Given the description of an element on the screen output the (x, y) to click on. 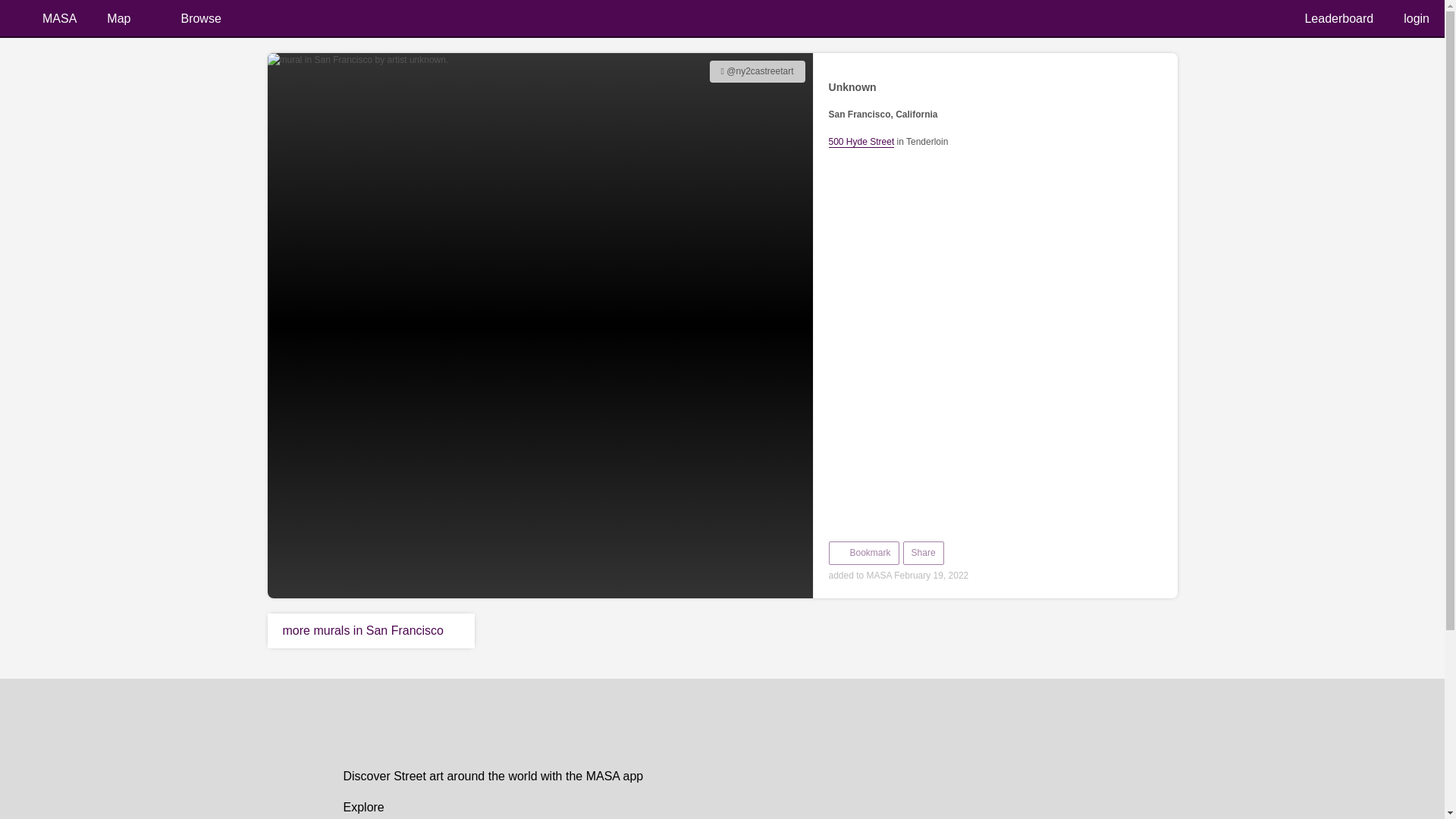
Map (128, 18)
Browse (210, 18)
added to MASA on 2022-02-19 21:11:04.000000 (757, 71)
MASA (45, 18)
